Given the description of an element on the screen output the (x, y) to click on. 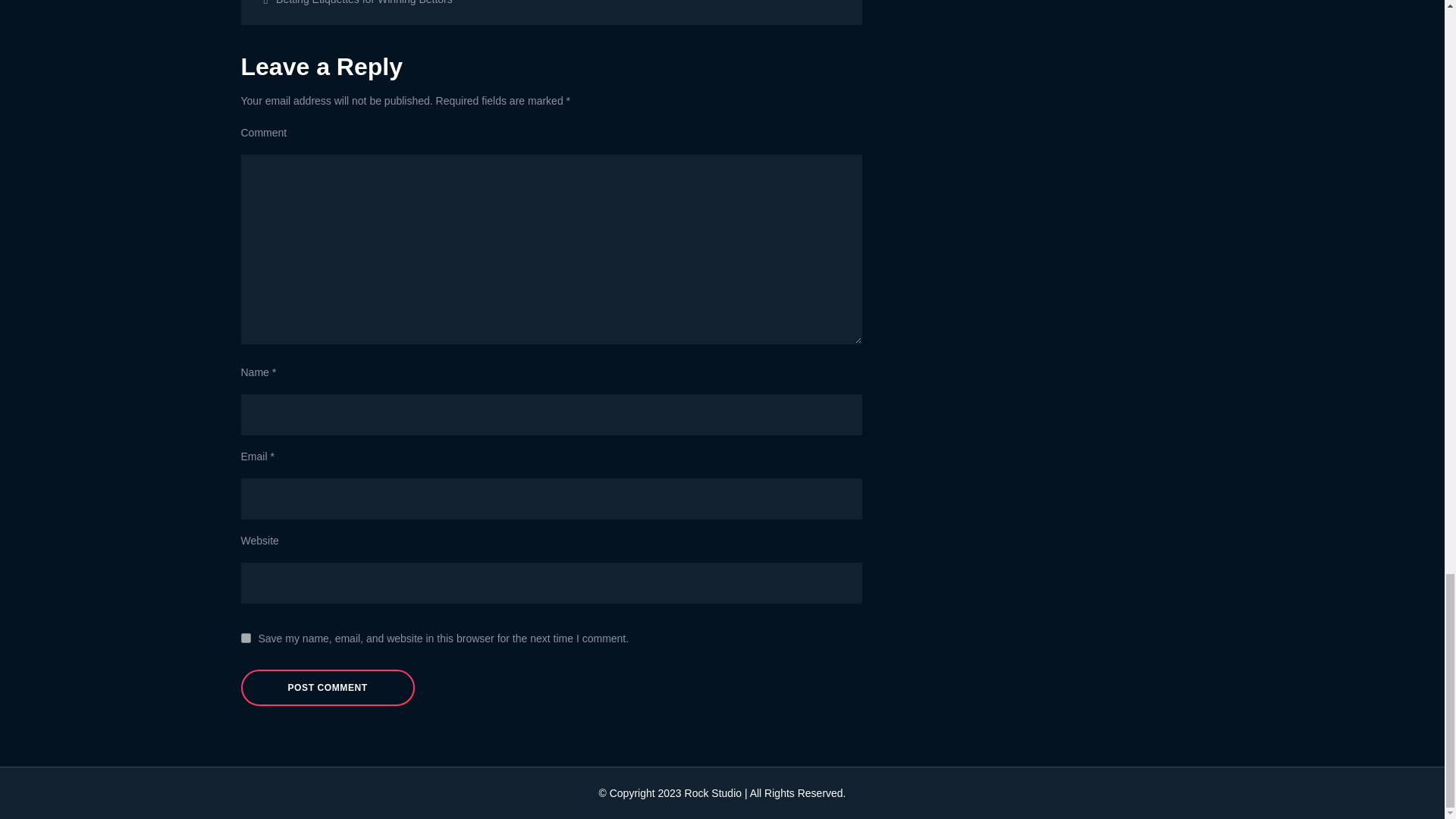
Post Comment (327, 687)
Post Comment (327, 687)
Betting Etiquettes for Winning Bettors (397, 4)
yes (245, 637)
